Given the description of an element on the screen output the (x, y) to click on. 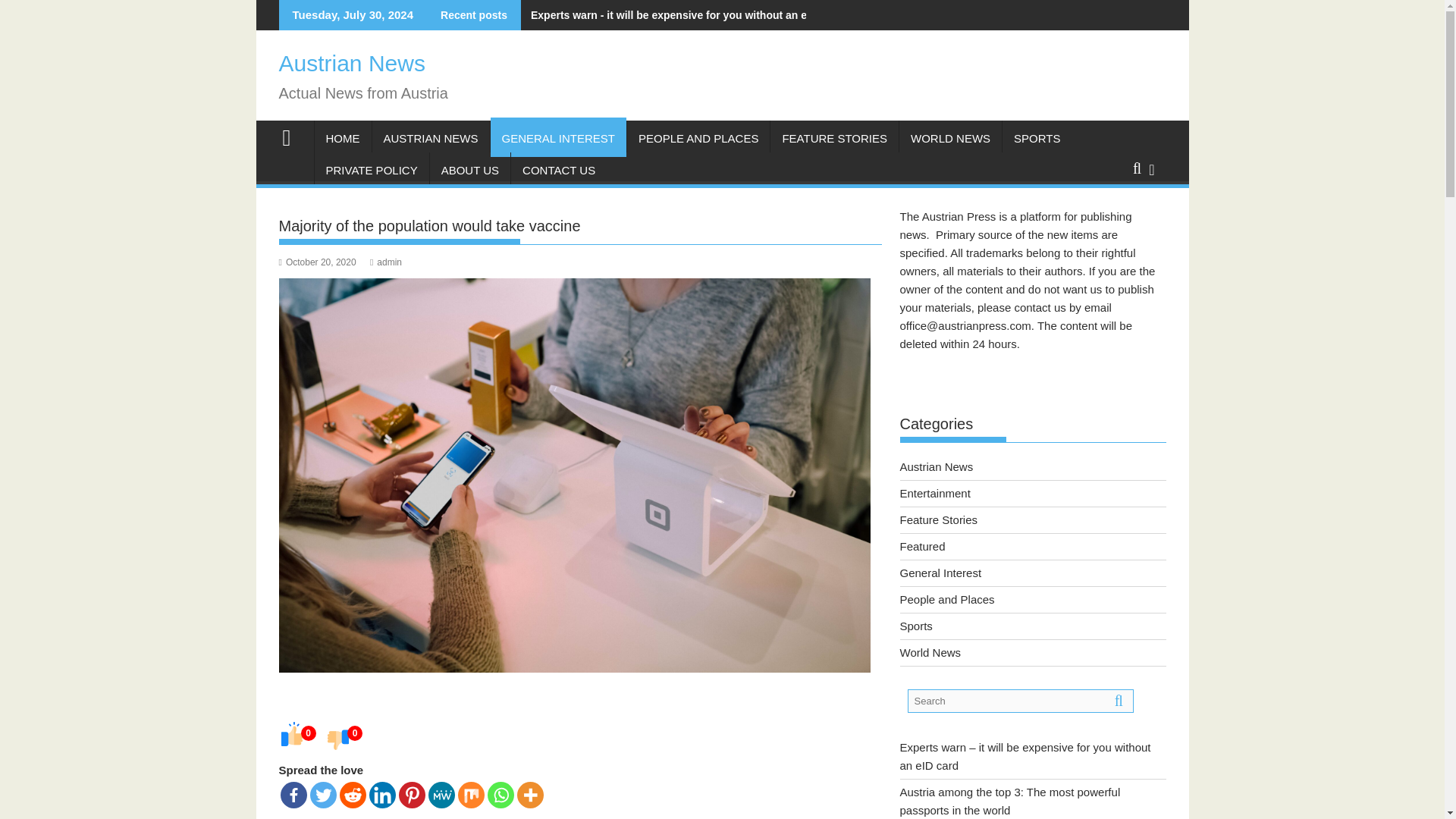
HOME (342, 138)
SPORTS (1037, 138)
PRIVATE POLICY (371, 170)
Linkedin (381, 795)
CONTACT US (559, 170)
October 20, 2020 (317, 262)
admin (385, 262)
GENERAL INTEREST (558, 138)
Austrian News (293, 136)
Whatsapp (499, 795)
Austrian News (352, 63)
Mix (471, 795)
Reddit (352, 795)
